Given the description of an element on the screen output the (x, y) to click on. 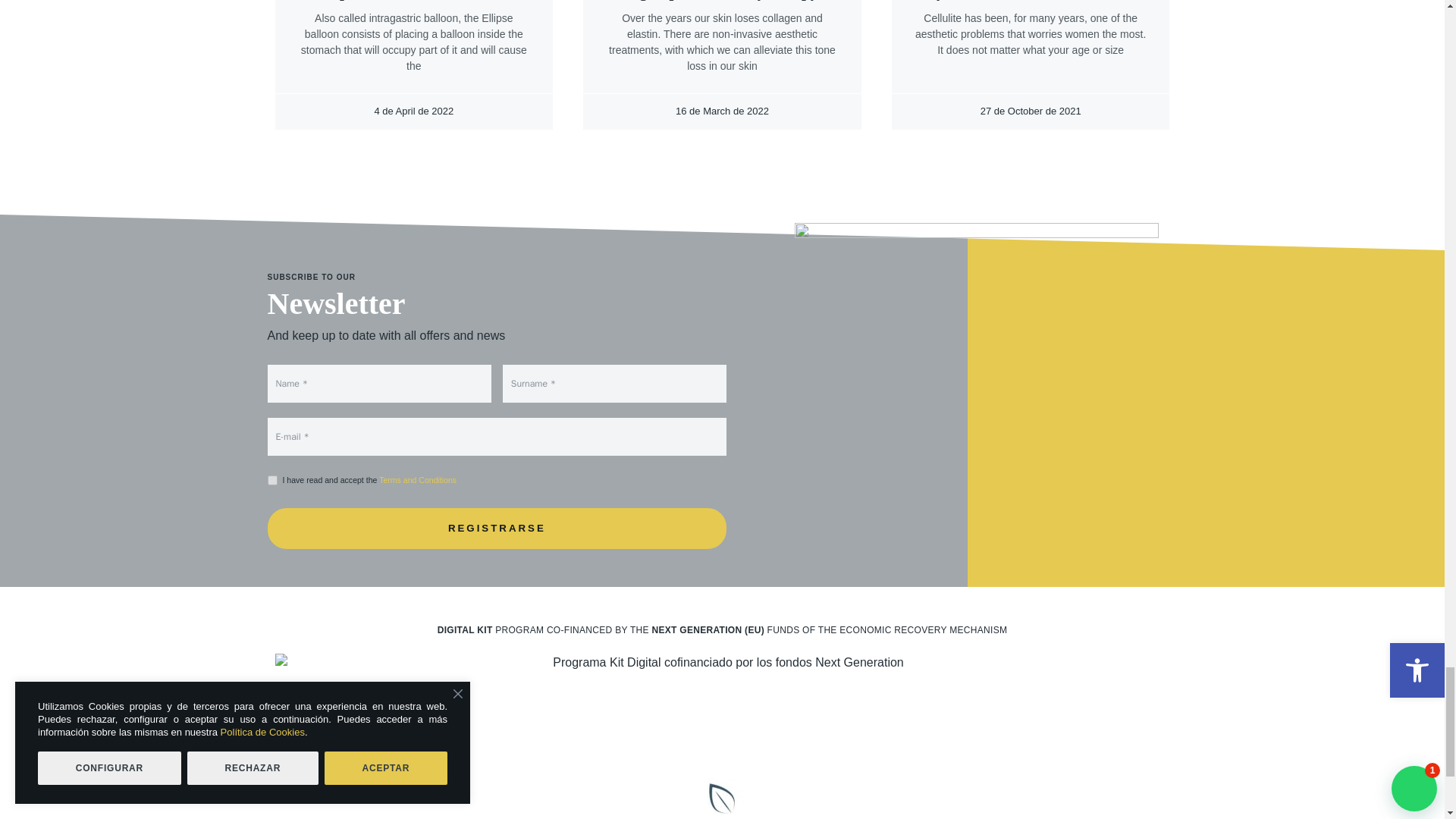
Terms and Conditions (417, 479)
on (271, 480)
